Given the description of an element on the screen output the (x, y) to click on. 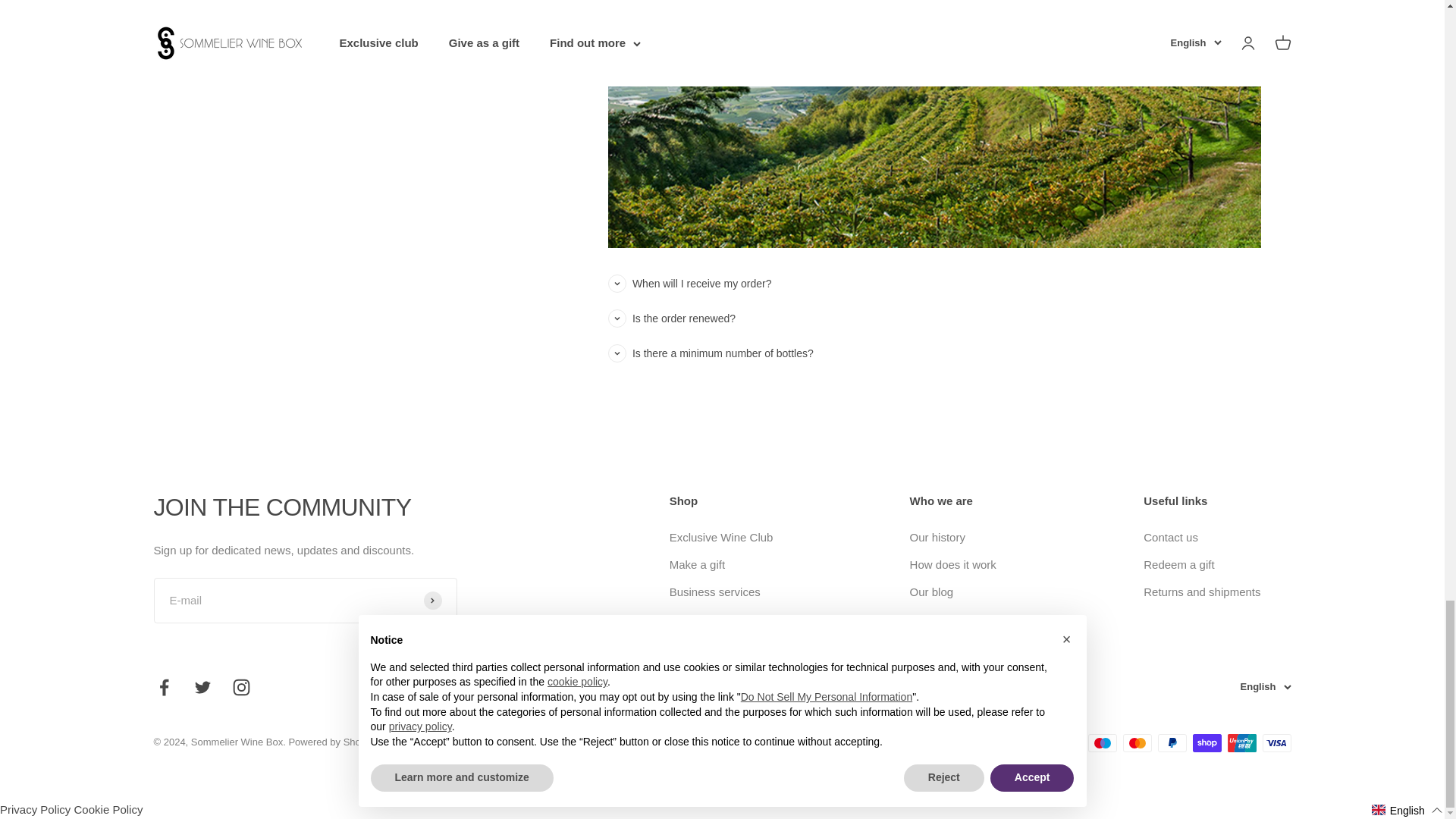
Privacy Policy  (34, 809)
Cookie Policy  (108, 809)
